Given the description of an element on the screen output the (x, y) to click on. 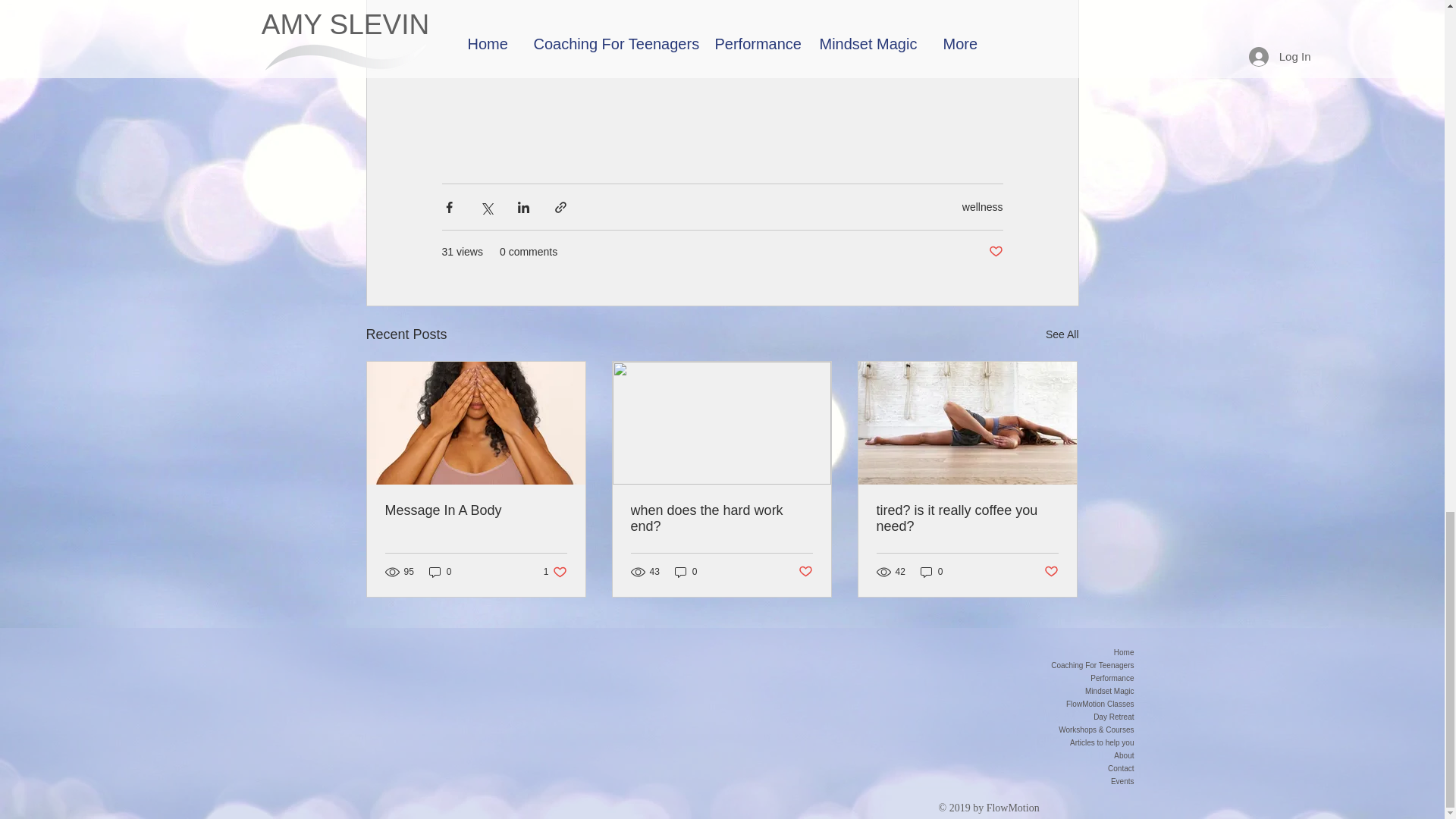
when does the hard work end? (721, 518)
Message In A Body (555, 572)
wellness (476, 510)
tired? is it really coffee you need? (982, 206)
Post not marked as liked (967, 518)
0 (804, 571)
Post not marked as liked (440, 572)
See All (995, 252)
0 (1061, 334)
